Given the description of an element on the screen output the (x, y) to click on. 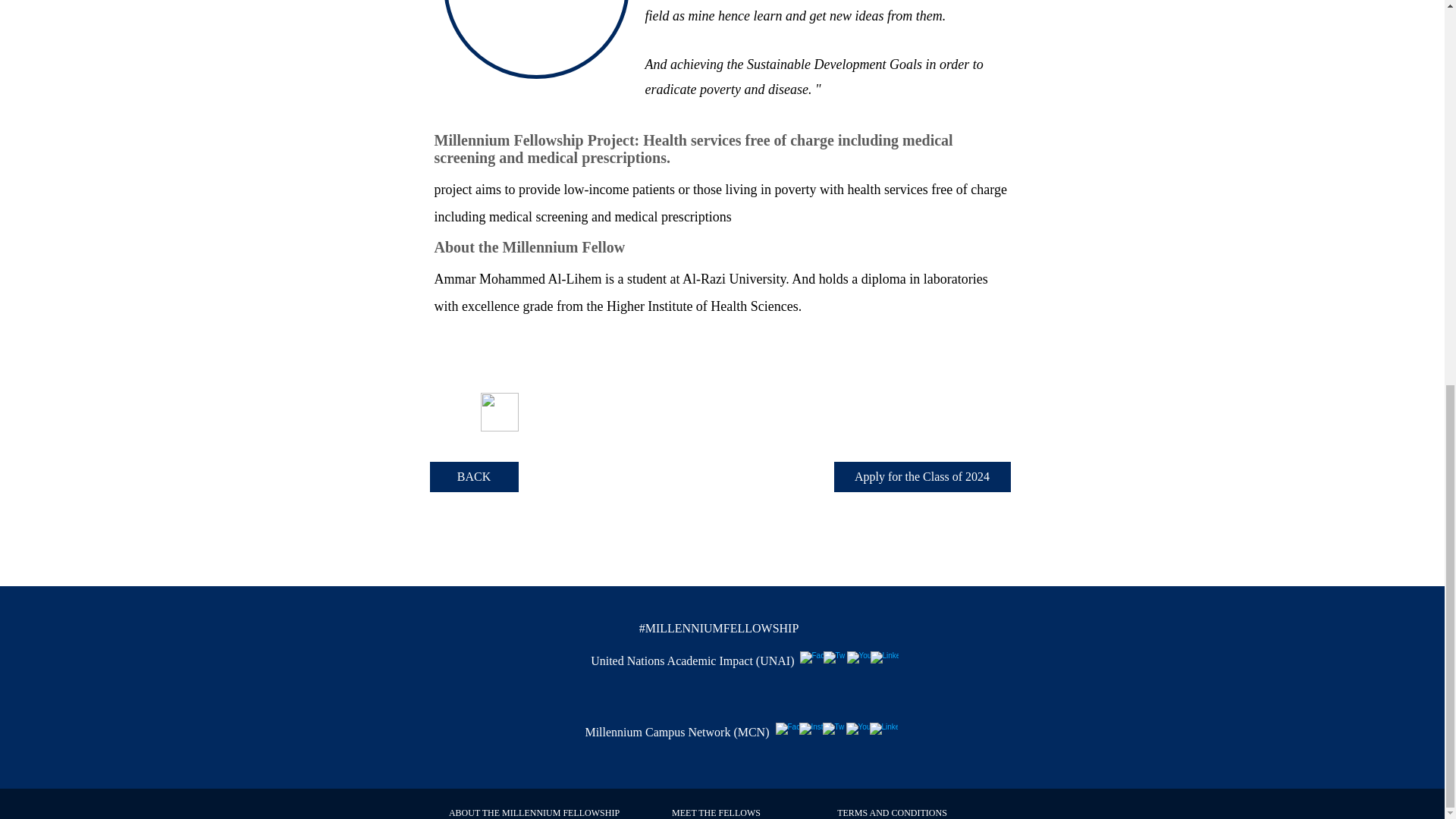
Apply for the Class of 2024 (922, 476)
ABOUT THE MILLENNIUM FELLOWSHIP (534, 812)
TERMS AND CONDITIONS (892, 812)
BACK (473, 476)
MEET THE FELLOWS (715, 812)
